Given the description of an element on the screen output the (x, y) to click on. 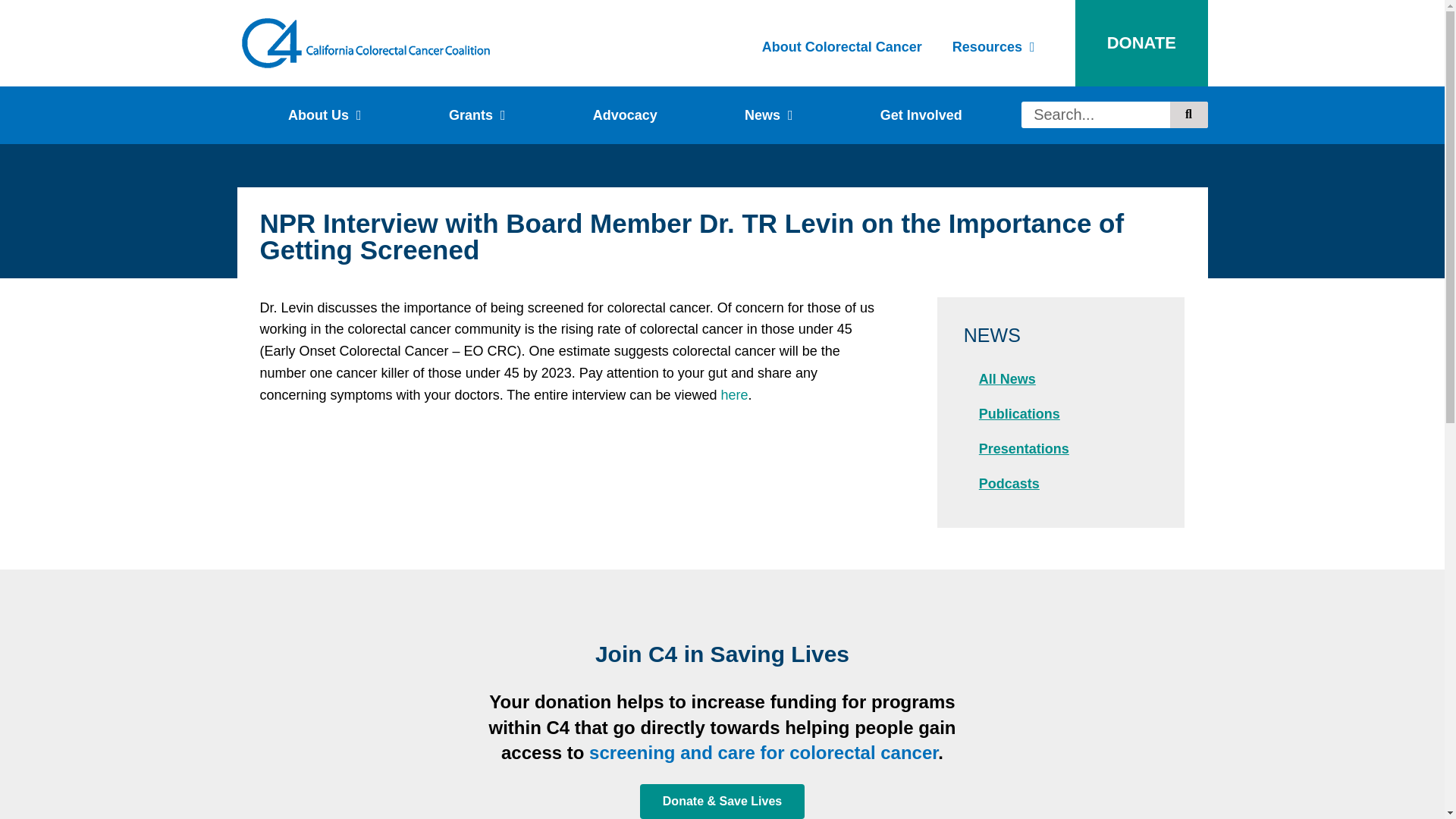
Resources (993, 46)
About Colorectal Cancer (841, 46)
